Given the description of an element on the screen output the (x, y) to click on. 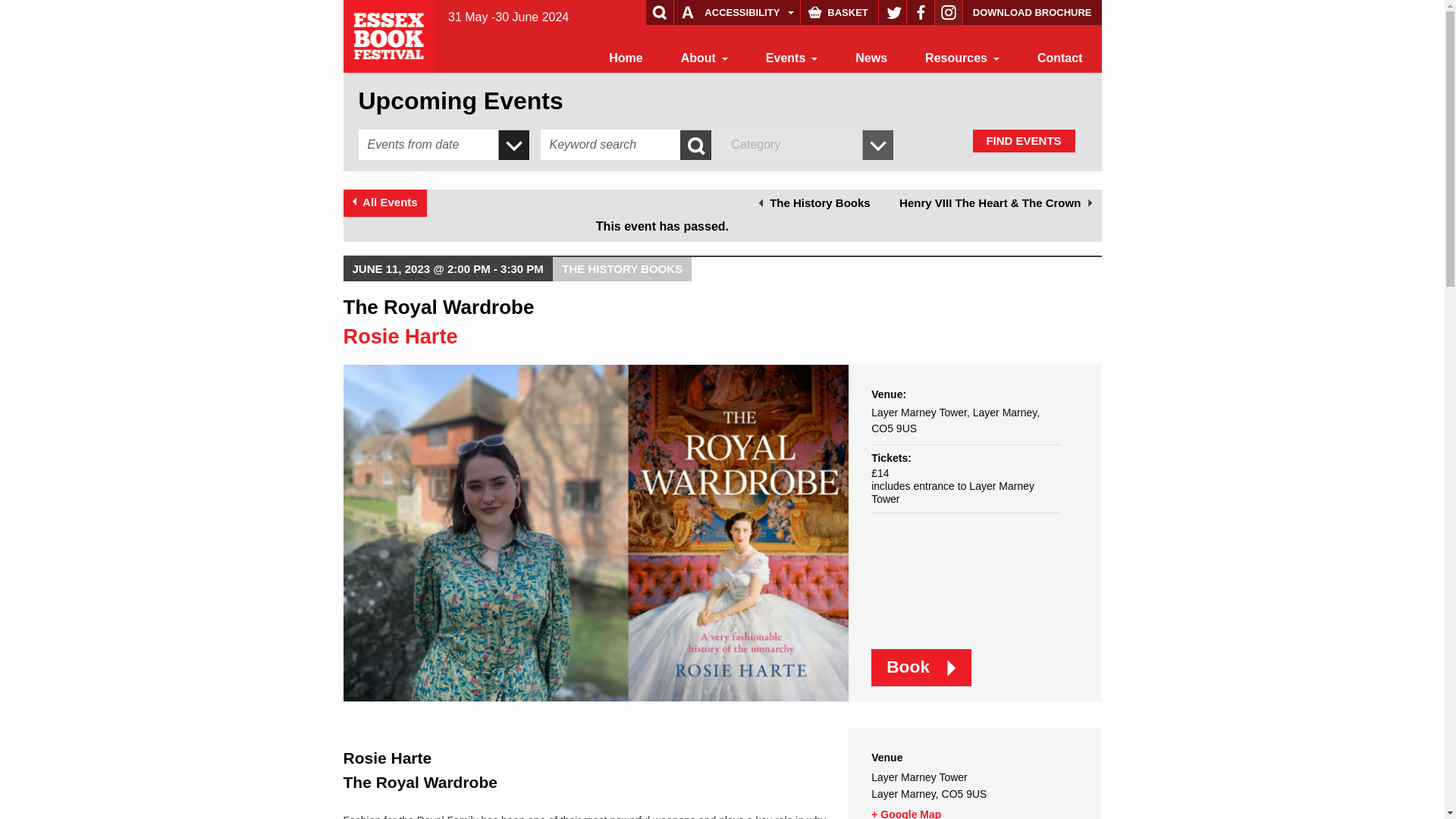
DOWNLOAD BROCHURE (1032, 12)
Events (790, 58)
ACCESSIBILITY (736, 12)
Home (625, 58)
Facebook (920, 12)
Events (790, 58)
Search site (41, 13)
Instagram (948, 12)
Find Events (1023, 140)
Download brochure (1032, 12)
Instagram (948, 12)
Find Events (1023, 140)
News (870, 58)
All Events (384, 203)
The History Books (814, 203)
